Given the description of an element on the screen output the (x, y) to click on. 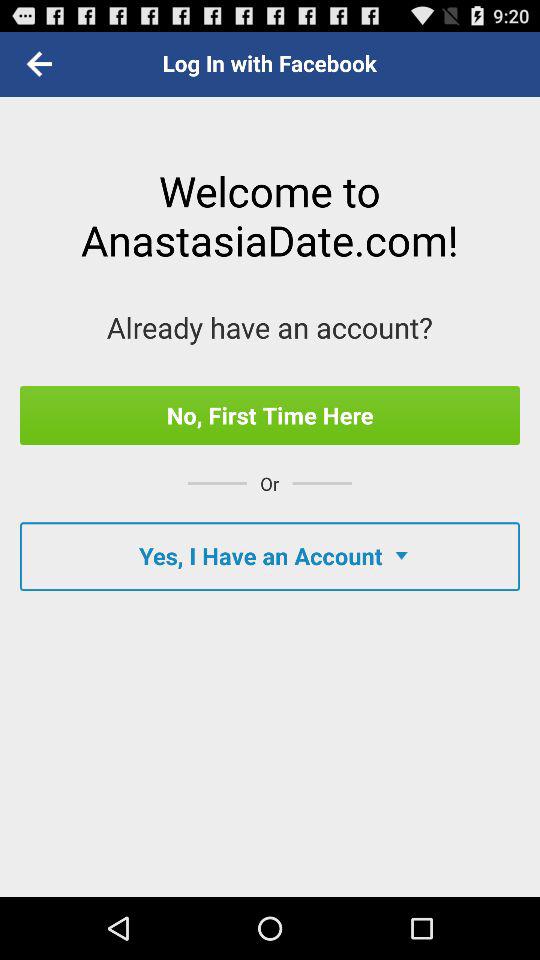
open app above the or icon (269, 415)
